Given the description of an element on the screen output the (x, y) to click on. 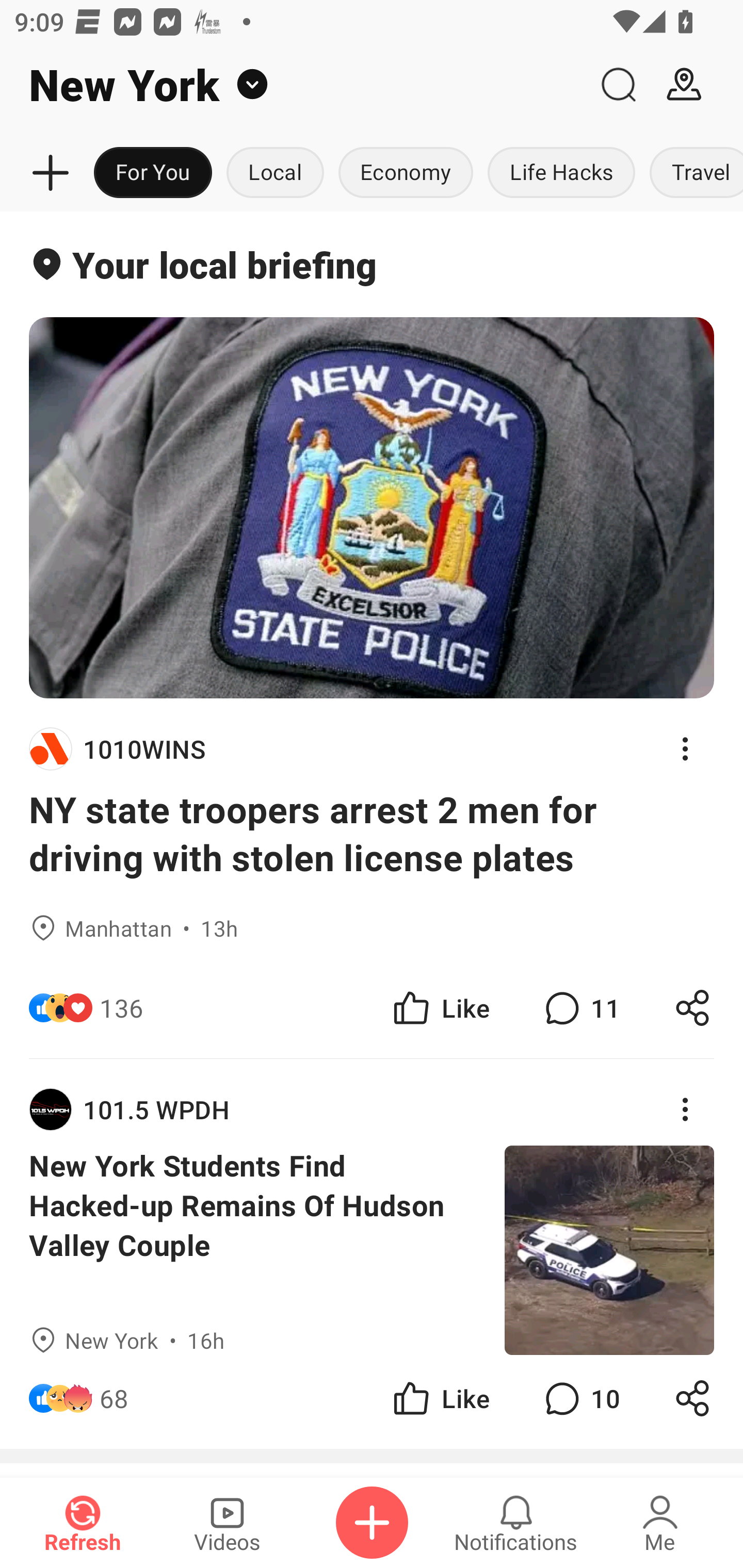
New York (292, 84)
For You (152, 172)
Local (275, 172)
Economy (405, 172)
Life Hacks (561, 172)
Travel (692, 172)
136 (121, 1007)
Like (439, 1007)
11 (579, 1007)
68 (113, 1397)
Like (439, 1397)
10 (579, 1397)
Videos (227, 1522)
Notifications (516, 1522)
Me (659, 1522)
